Given the description of an element on the screen output the (x, y) to click on. 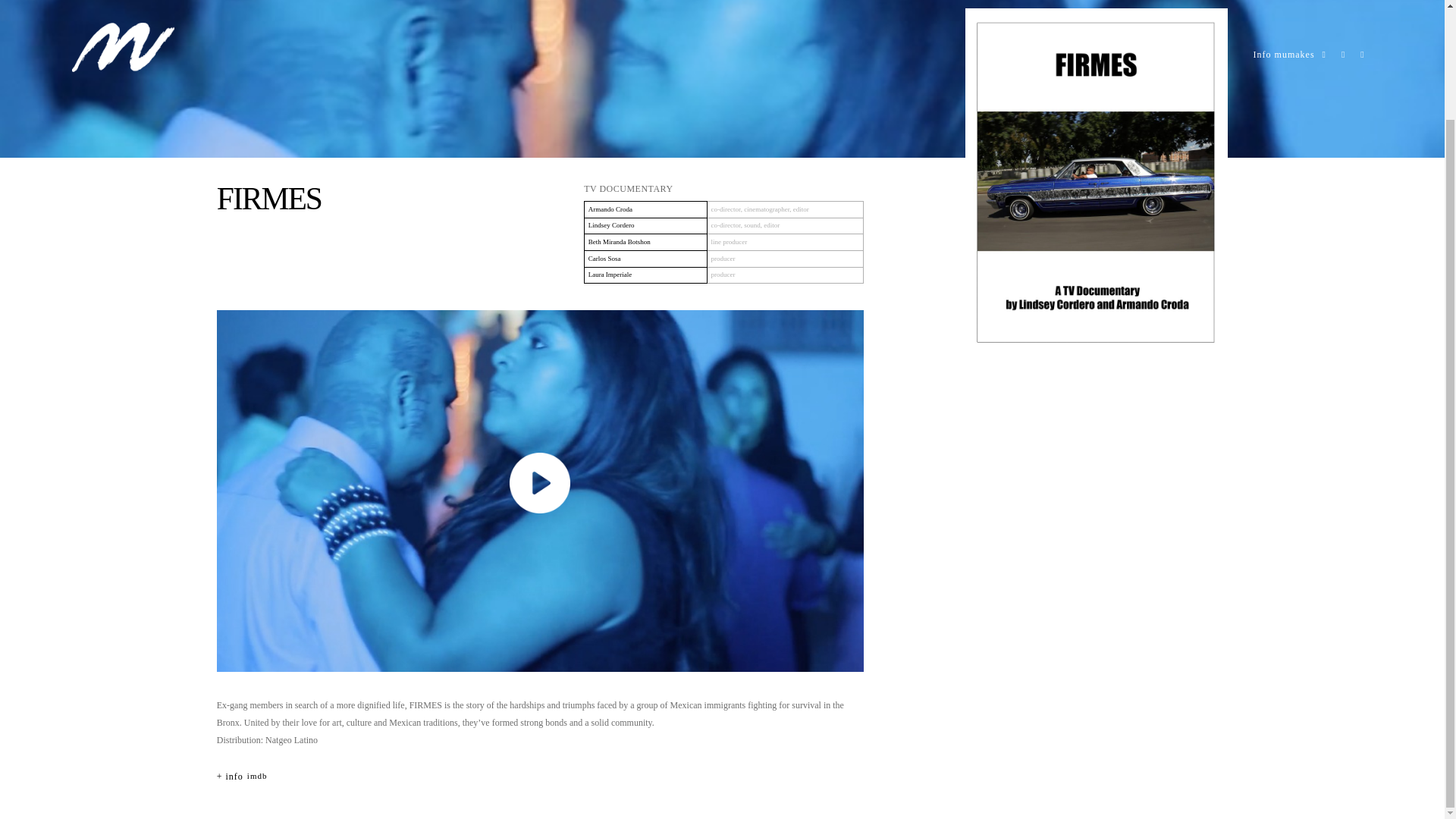
imdb (257, 776)
